Given the description of an element on the screen output the (x, y) to click on. 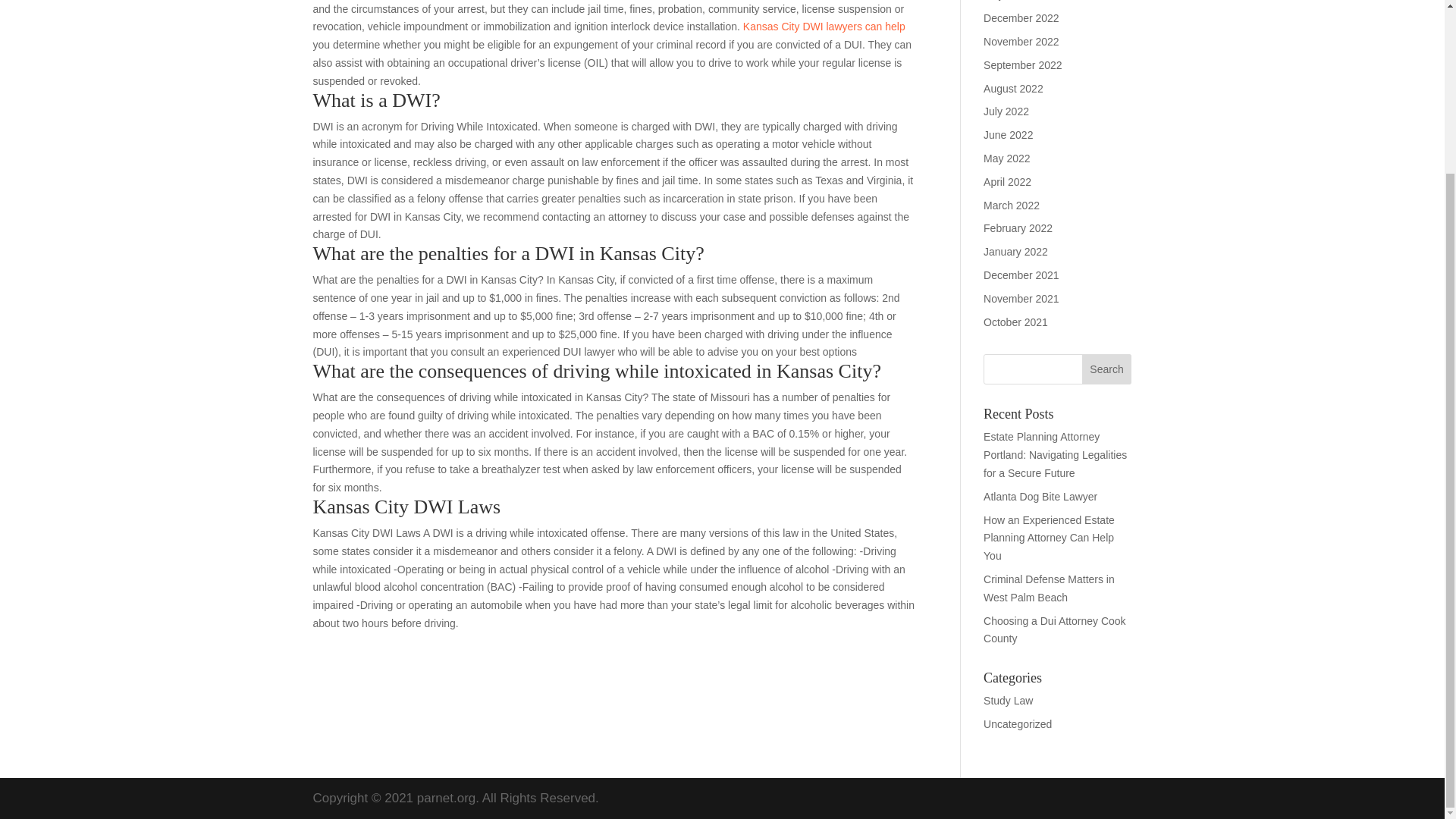
Atlanta Dog Bite Lawyer (1040, 496)
May 2022 (1006, 158)
Search (1106, 368)
February 2022 (1018, 227)
May 2023 (1006, 0)
September 2022 (1023, 64)
November 2021 (1021, 298)
March 2022 (1011, 205)
July 2022 (1006, 111)
Criminal Defense Matters in West Palm Beach (1049, 588)
October 2021 (1016, 322)
Study Law (1008, 700)
December 2022 (1021, 18)
Kansas City DWI lawyers can help (823, 26)
